Given the description of an element on the screen output the (x, y) to click on. 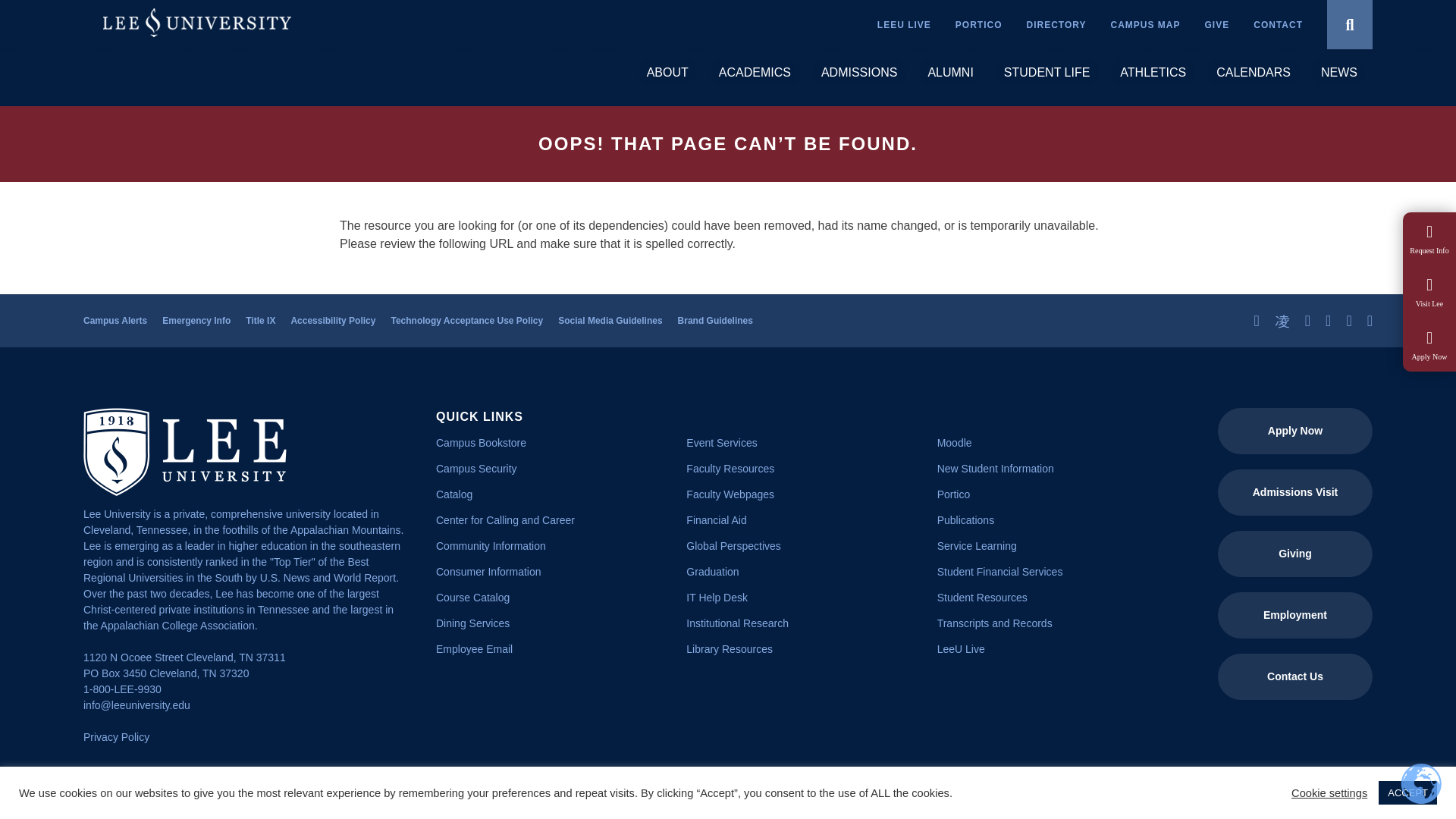
CAMPUS MAP (1145, 24)
Portico (979, 24)
ACADEMICS (754, 72)
Academics (754, 72)
GIVE (1217, 24)
DIRECTORY (1056, 24)
LEEU LIVE (904, 24)
Give (1217, 24)
About (667, 72)
ABOUT (667, 72)
Directory (1056, 24)
PORTICO (979, 24)
CONTACT (1278, 24)
Contact (1278, 24)
LeeU Live (904, 24)
